Given the description of an element on the screen output the (x, y) to click on. 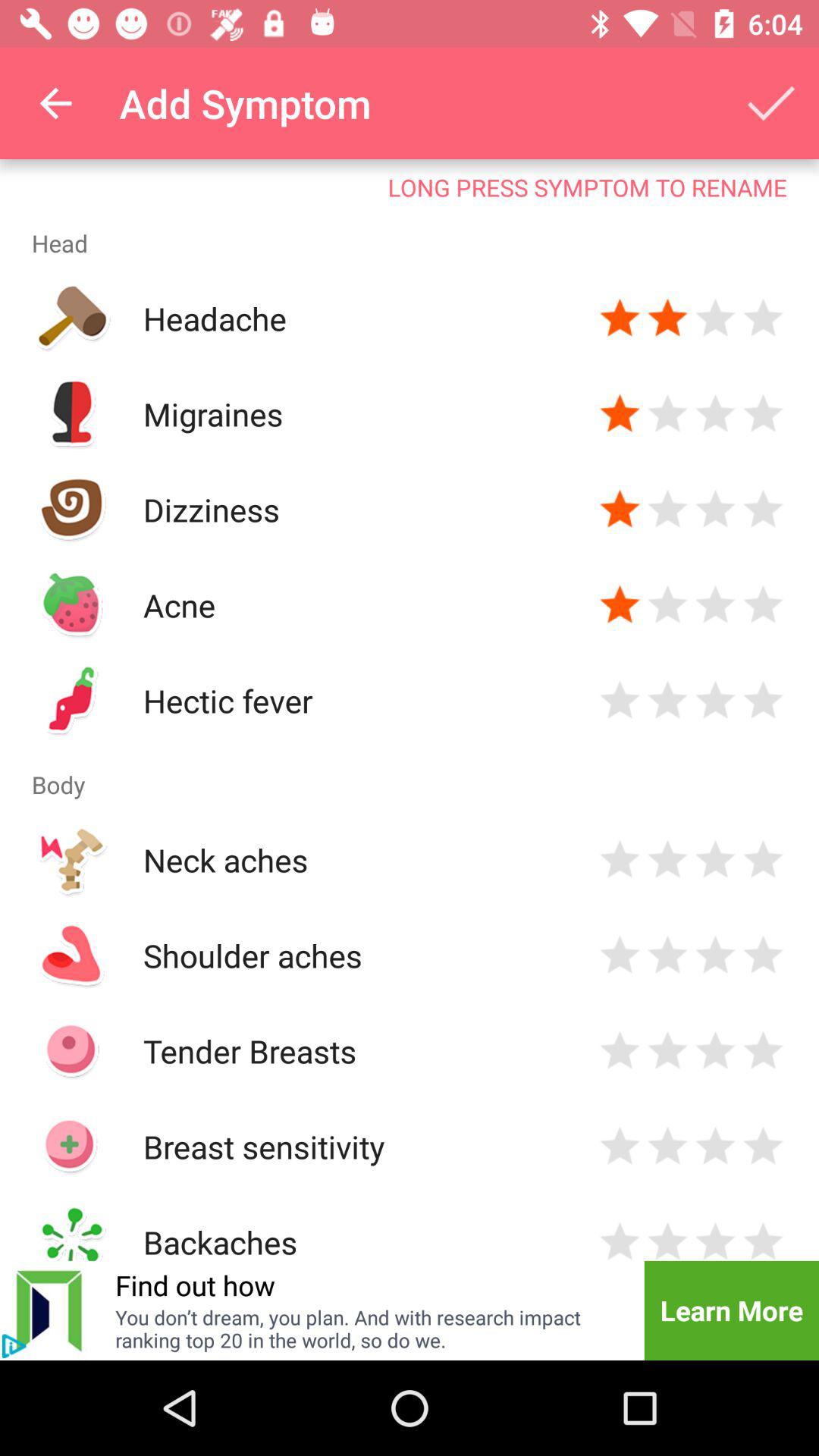
rate 3 (715, 859)
